Given the description of an element on the screen output the (x, y) to click on. 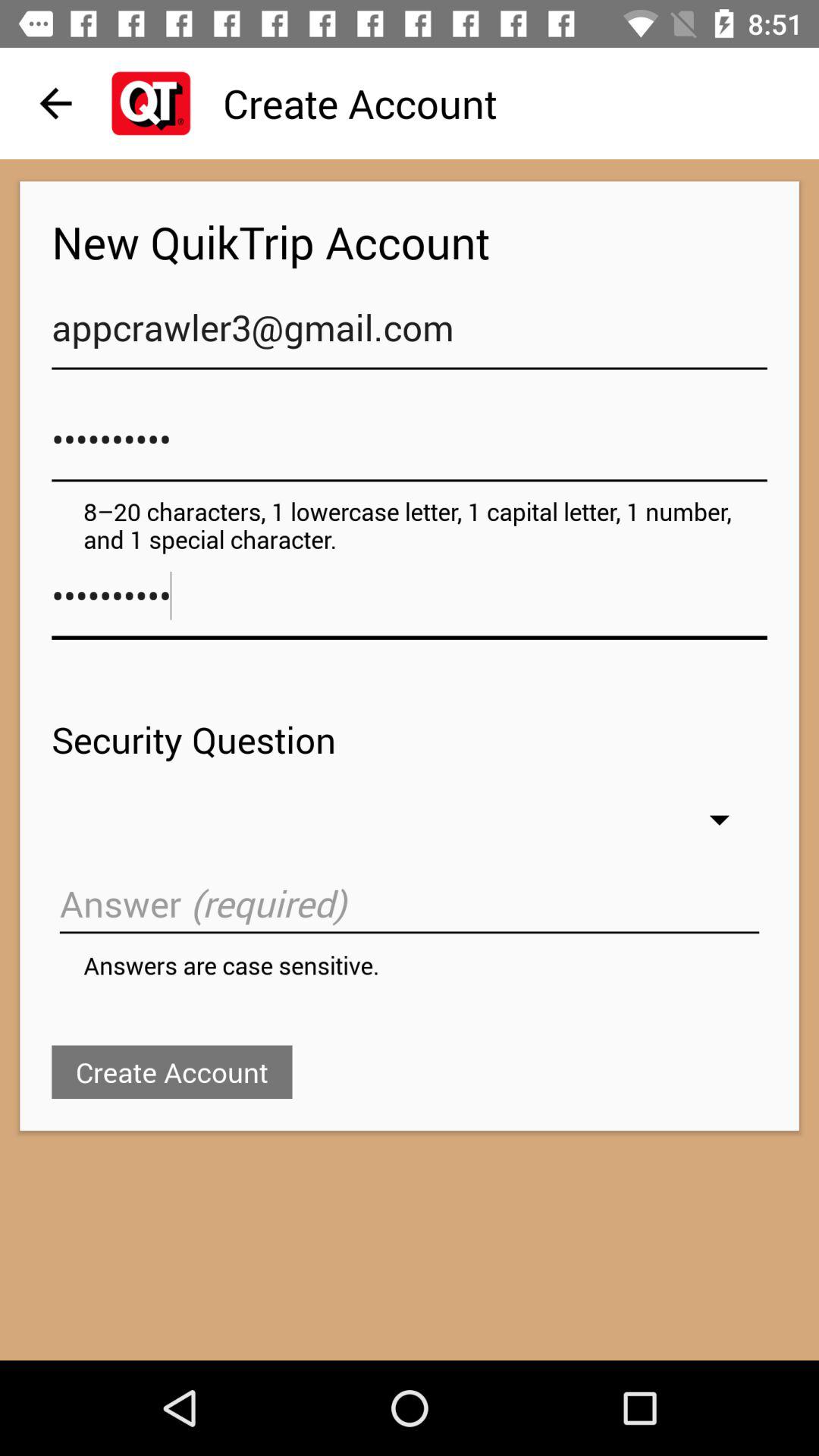
tap icon above crowd#3116 item (409, 335)
